Given the description of an element on the screen output the (x, y) to click on. 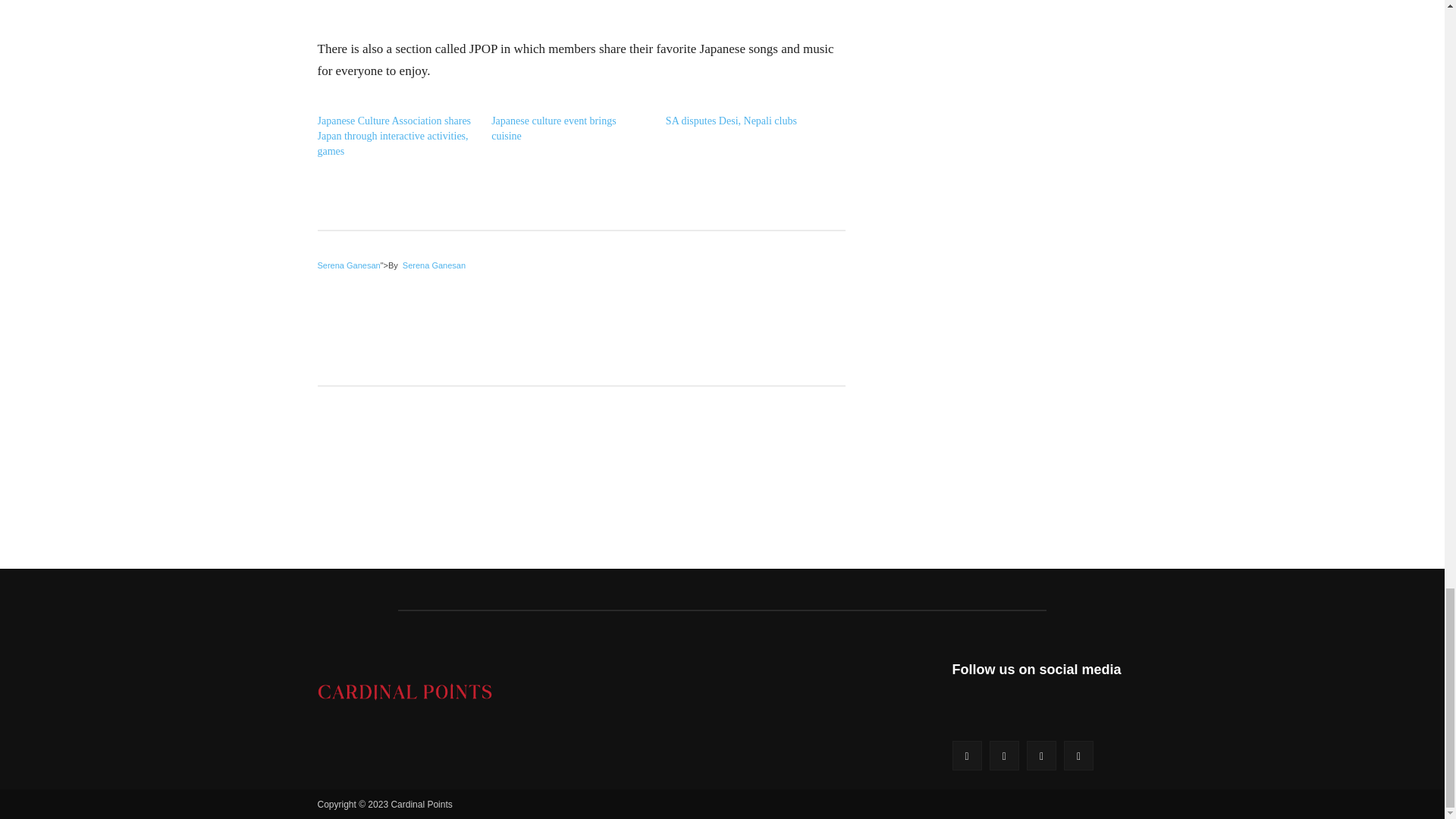
SA disputes Desi, Nepali clubs (730, 120)
Japanese culture event brings cuisine (553, 128)
